Given the description of an element on the screen output the (x, y) to click on. 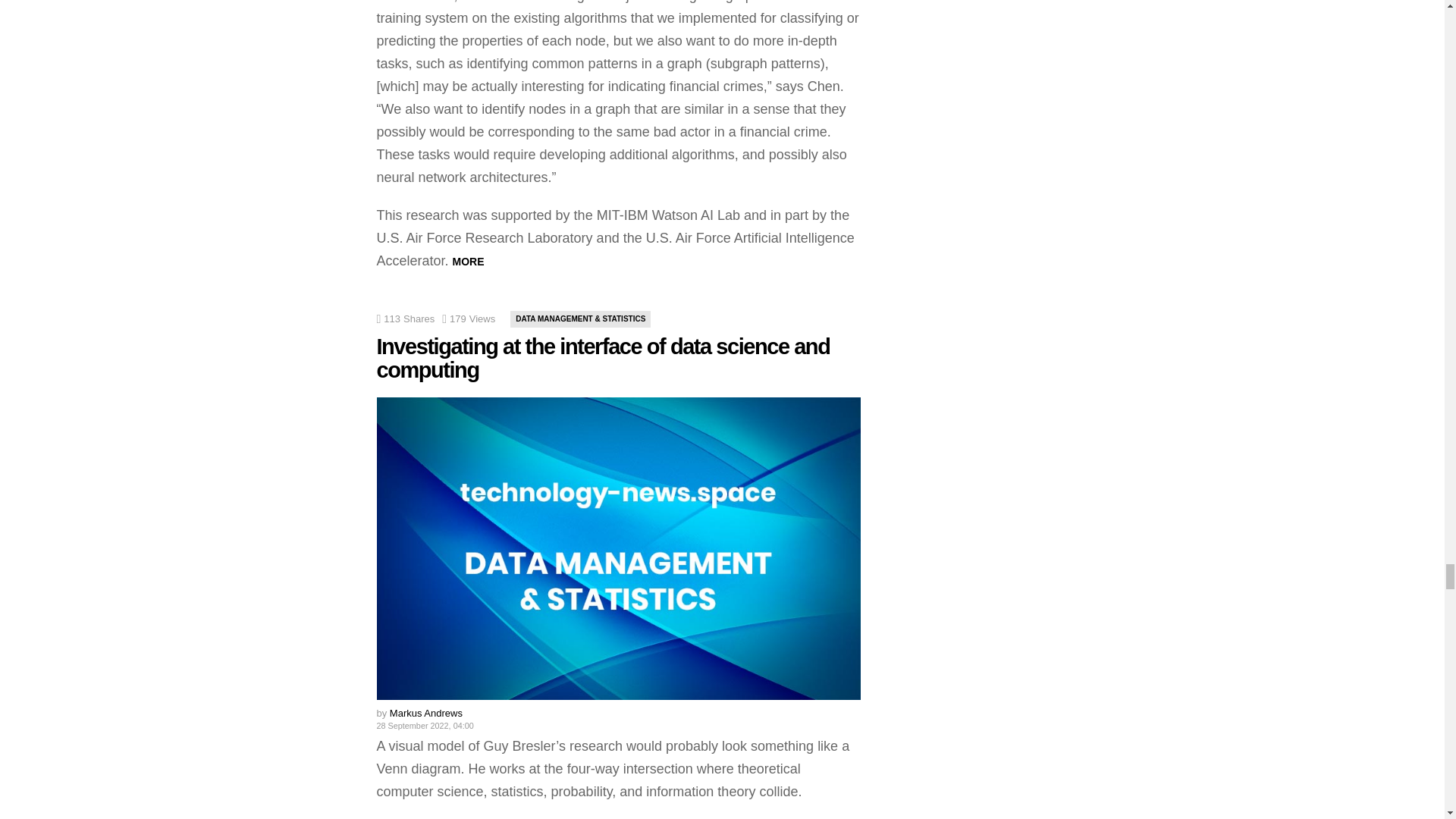
Posts by Markus Andrews (426, 713)
